Given the description of an element on the screen output the (x, y) to click on. 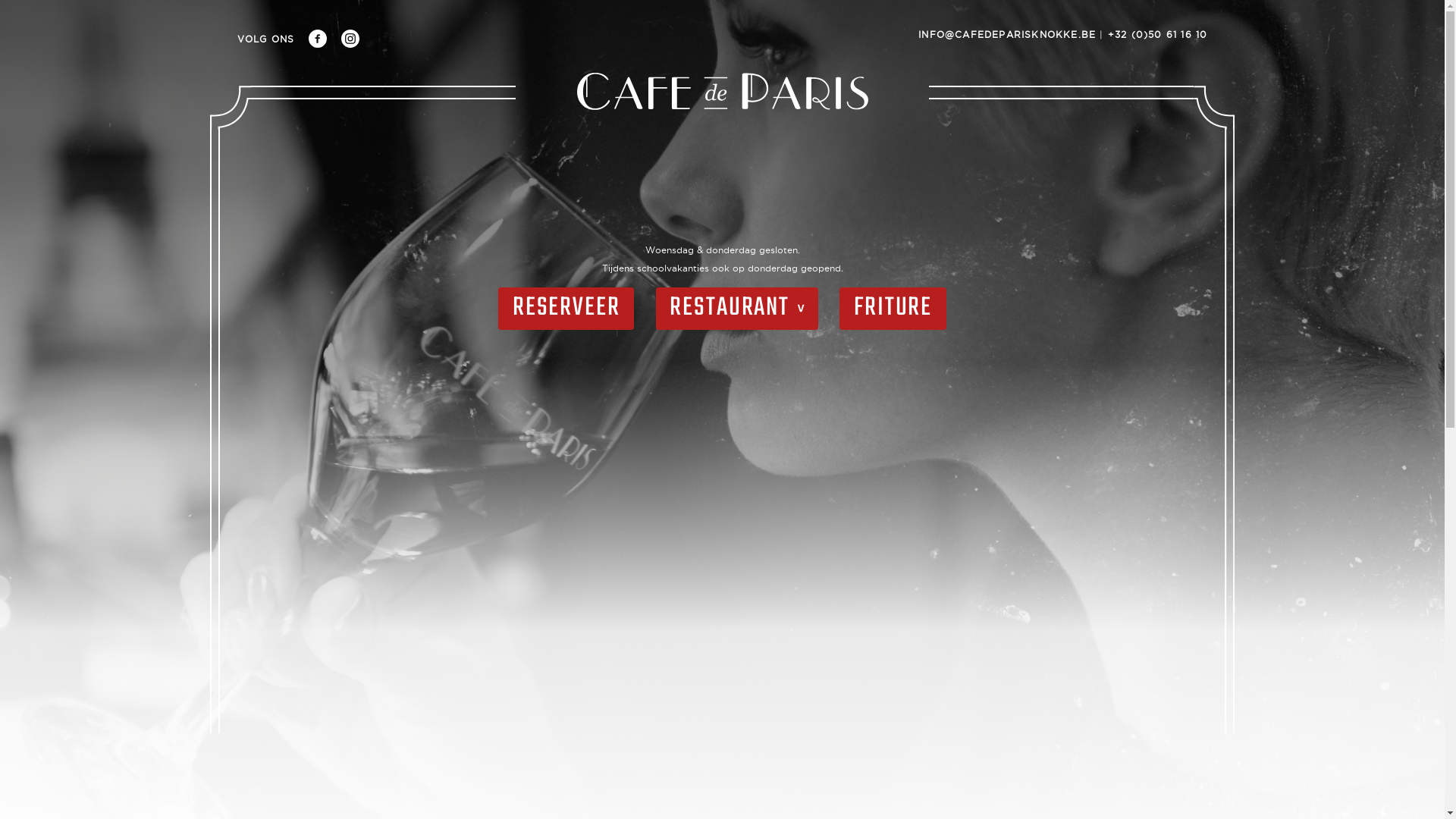
FRITURE Element type: text (892, 308)
RESERVEER Element type: text (565, 308)
RESTAURANT
> Element type: text (737, 308)
INFO@CAFEDEPARISKNOKKE.BE Element type: text (1006, 34)
+32 (0)50 61 16 10 Element type: text (1157, 34)
